Given the description of an element on the screen output the (x, y) to click on. 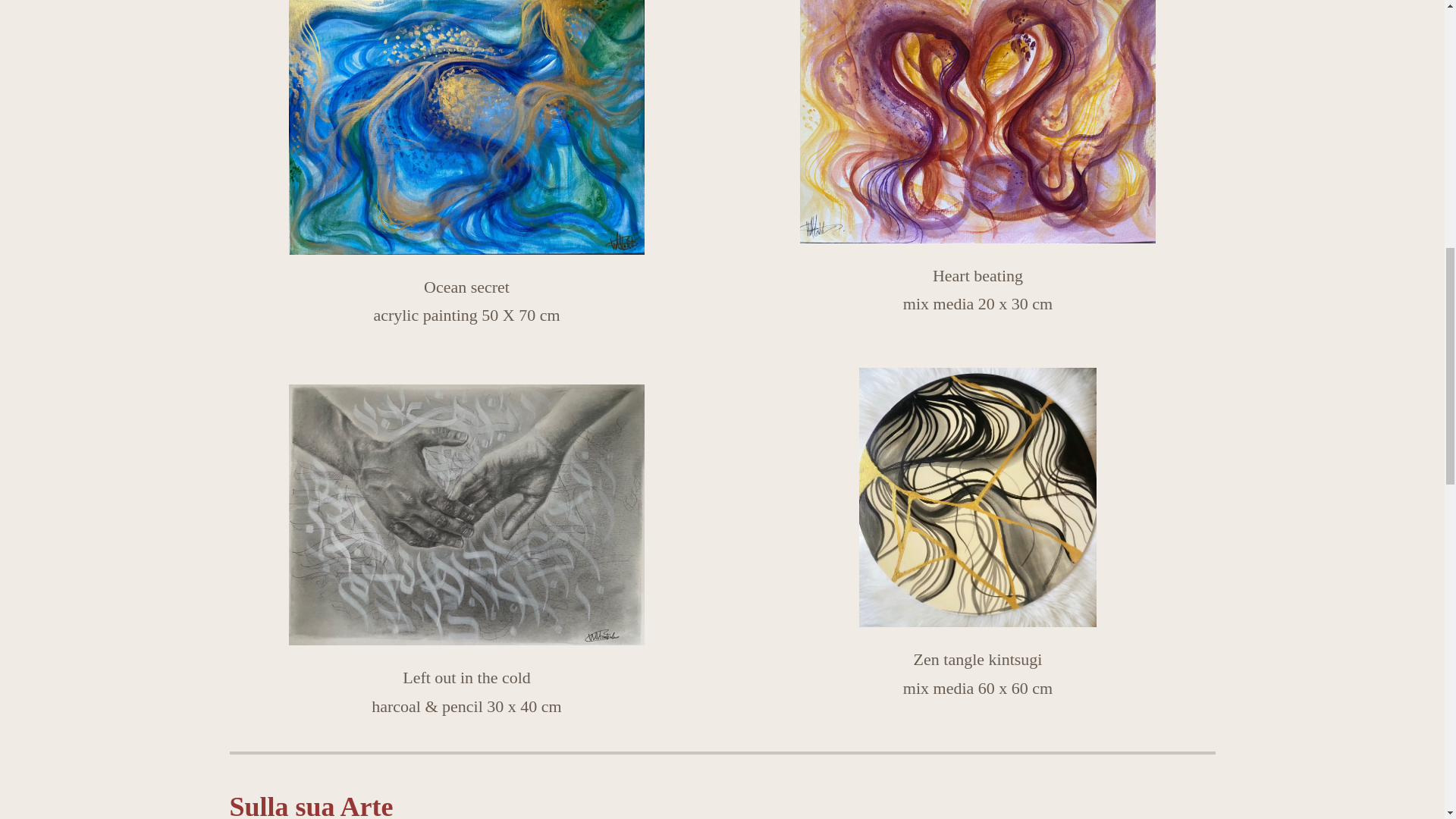
Heart beating (977, 121)
Left out in the cold (465, 515)
Zen tangle kintsugi (976, 497)
Ocean secret (465, 127)
Zen tangle kintsugi (977, 497)
Left out in the cold (466, 515)
Ocean secret (466, 127)
Heart beating (976, 121)
